Given the description of an element on the screen output the (x, y) to click on. 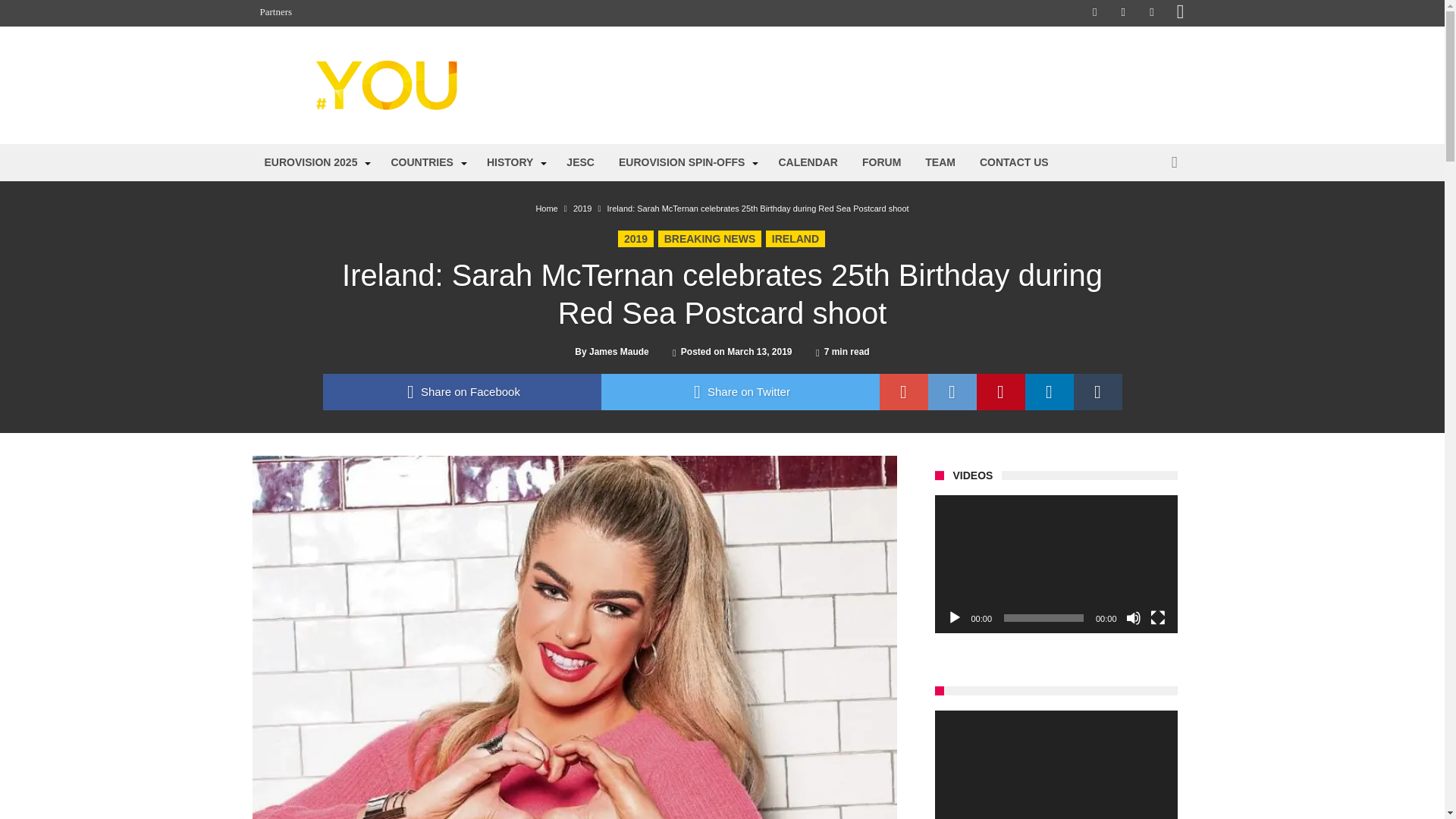
pinterest (1000, 391)
reddit (952, 391)
twitter (739, 391)
facebook (462, 391)
Advertisement (809, 84)
Youtube (1151, 13)
instagram (1179, 13)
Facebook (1094, 13)
google (903, 391)
Twitter (1122, 13)
escYOUnited (405, 59)
